Given the description of an element on the screen output the (x, y) to click on. 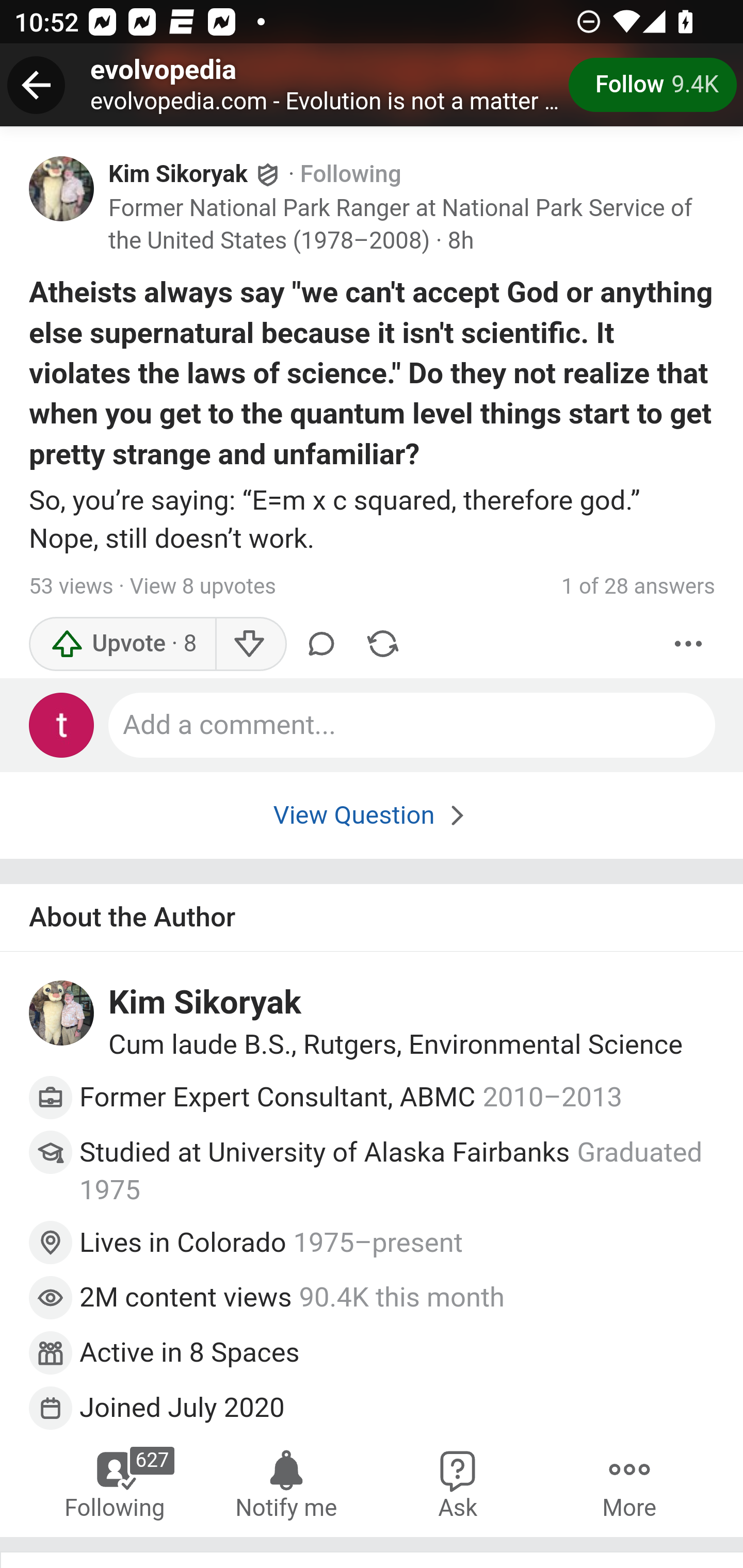
evolvopedia (164, 68)
Follow 9.4K (652, 85)
Profile photo for Kim Sikoryak (61, 188)
Kim Sikoryak (178, 174)
Following (350, 174)
View 8 upvotes (201, 586)
1 of 28 answers (637, 586)
Upvote (122, 642)
Downvote (249, 642)
Comment (321, 642)
Share (382, 642)
More (688, 642)
Profile photo for Test Appium (61, 724)
Add a comment... (412, 724)
View Question (371, 814)
Profile photo for Kim Sikoryak (61, 1013)
Kim Sikoryak (204, 1003)
Following Kim Sikoryak 627 Following (115, 1483)
Notify me (285, 1483)
Ask (458, 1483)
More (628, 1483)
